Given the description of an element on the screen output the (x, y) to click on. 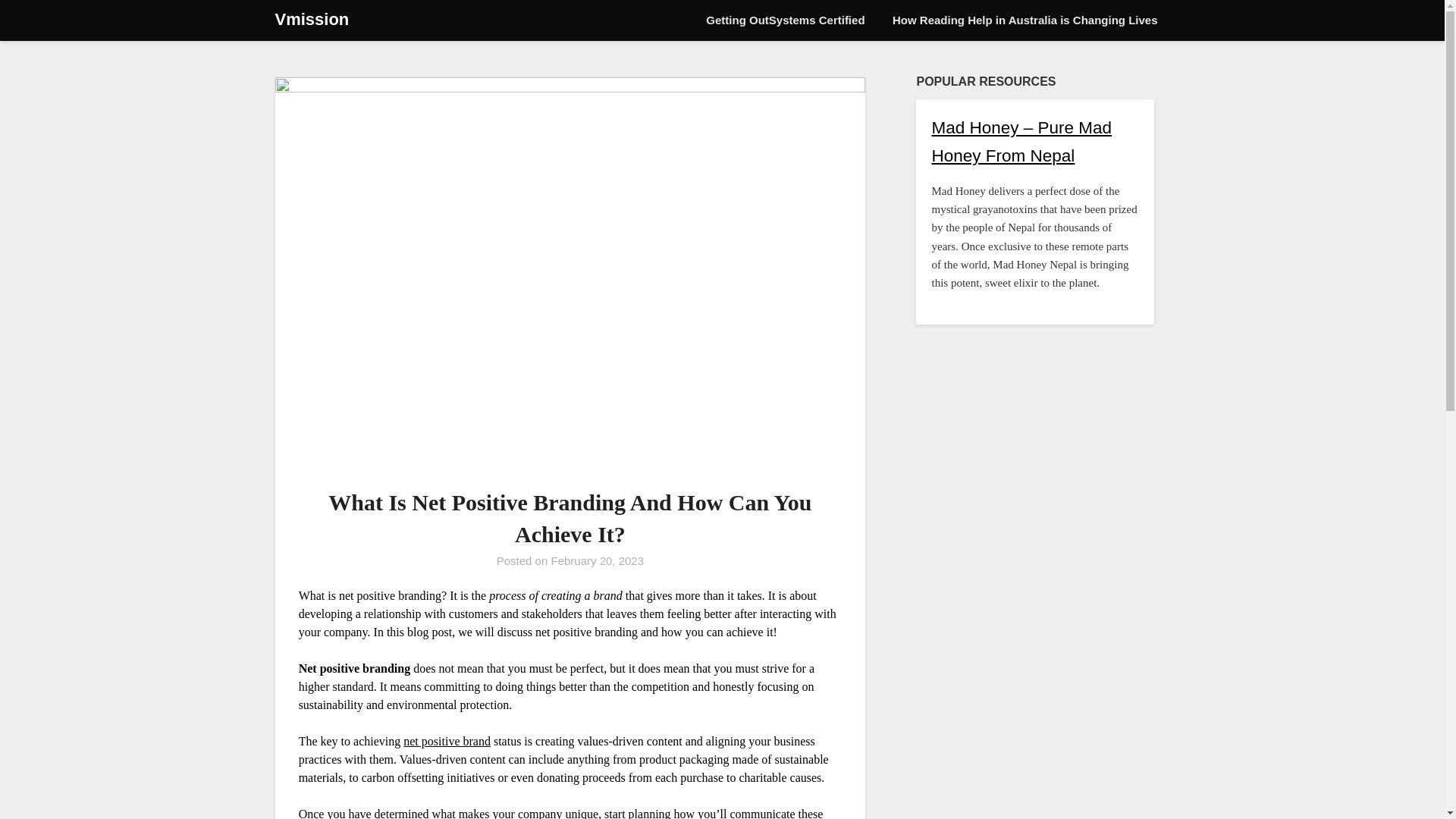
net positive brand (446, 739)
How Reading Help in Australia is Changing Lives (1025, 20)
February 20, 2023 (596, 560)
Vmission (312, 19)
Getting OutSystems Certified (785, 20)
